Given the description of an element on the screen output the (x, y) to click on. 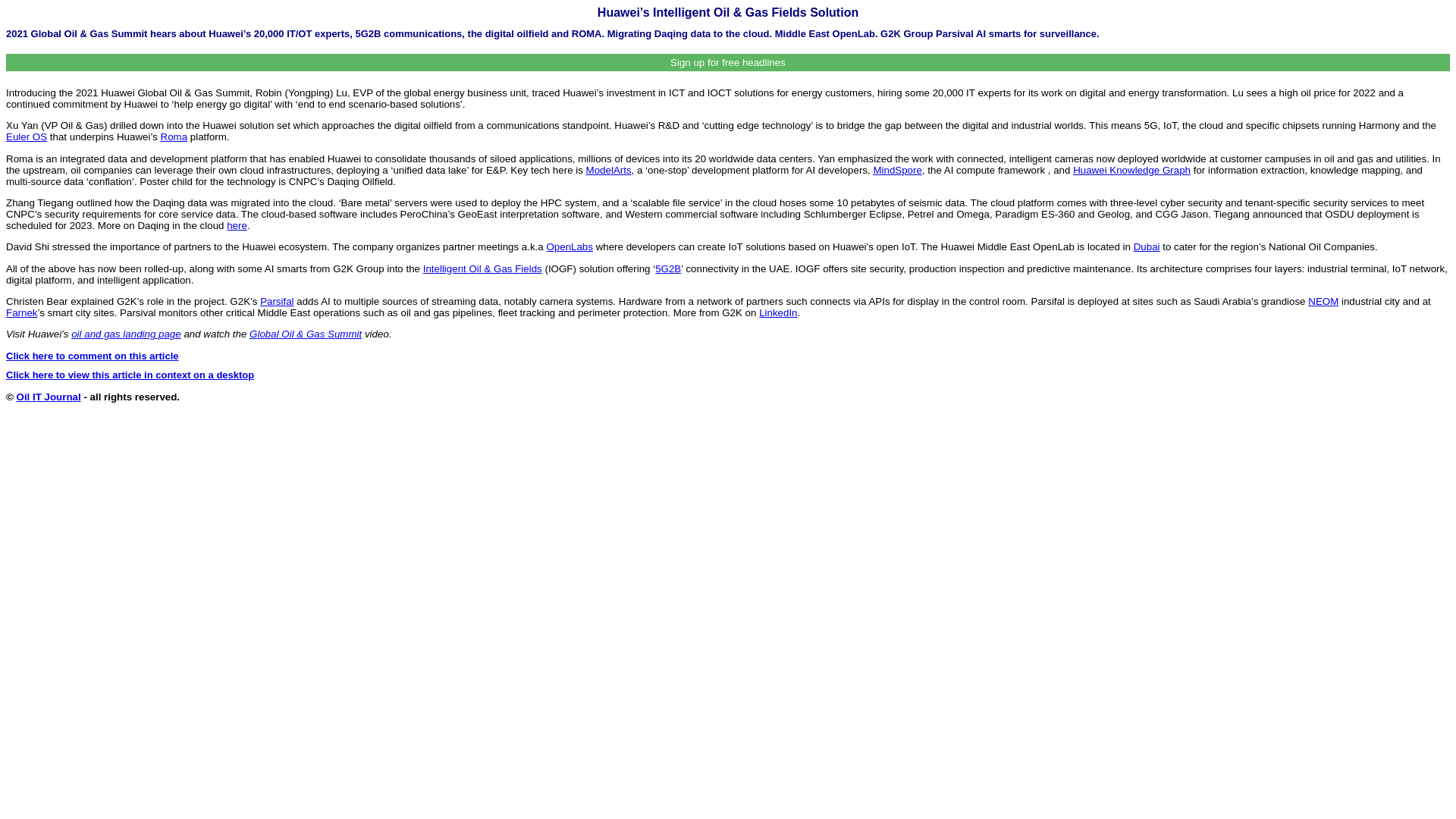
Roma (173, 136)
OpenLabs (569, 246)
5G2B (668, 268)
NEOM (1322, 301)
Dubai (1147, 246)
here (237, 225)
Euler OS (25, 136)
Click here to view this article in context on a desktop (129, 374)
Oil IT Journal (48, 396)
Huawei Knowledge Graph (1132, 170)
LinkedIn (777, 312)
oil and gas landing page (125, 333)
Click here to comment on this article (92, 355)
Sign up for free headlines (727, 62)
Farnek (21, 312)
